Given the description of an element on the screen output the (x, y) to click on. 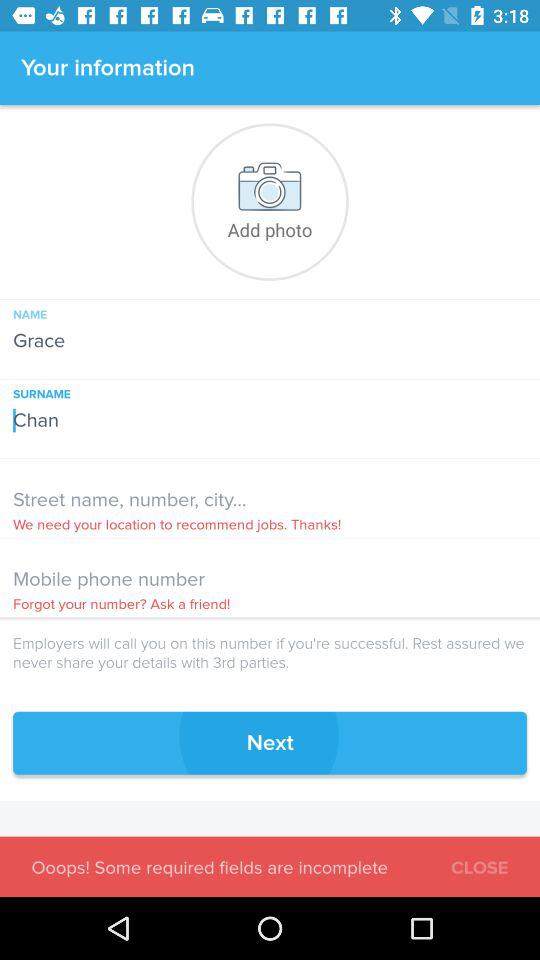
tap close icon (479, 864)
